Given the description of an element on the screen output the (x, y) to click on. 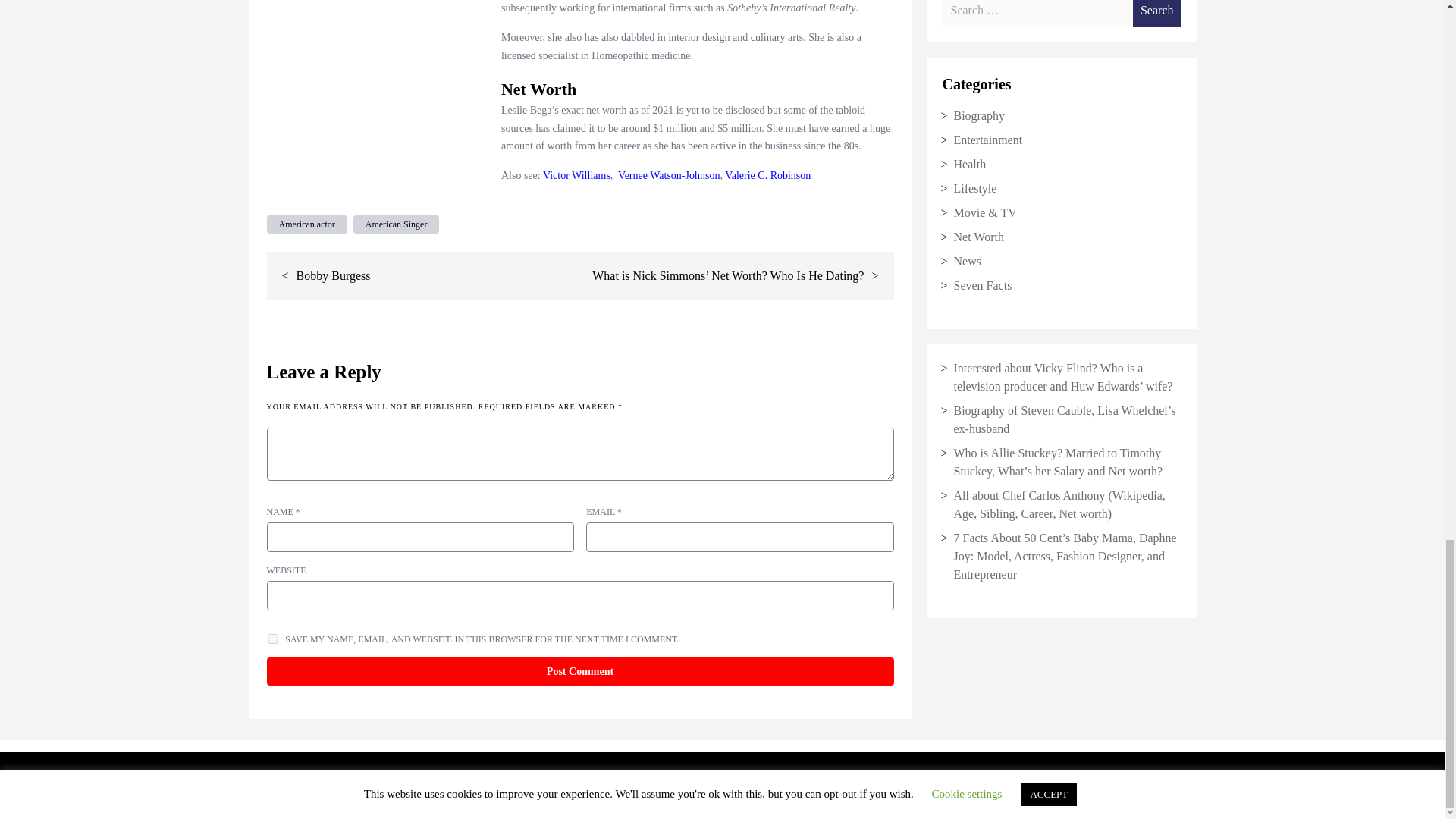
Valerie C. Robinson (767, 174)
Post Comment (579, 671)
Bobby Burgess (334, 275)
Search (1156, 13)
Post Comment (579, 671)
yes (272, 638)
American actor (306, 224)
Vernee Watson-Johnson (668, 174)
American Singer (396, 224)
Search (1156, 13)
Victor Williams (576, 174)
